Given the description of an element on the screen output the (x, y) to click on. 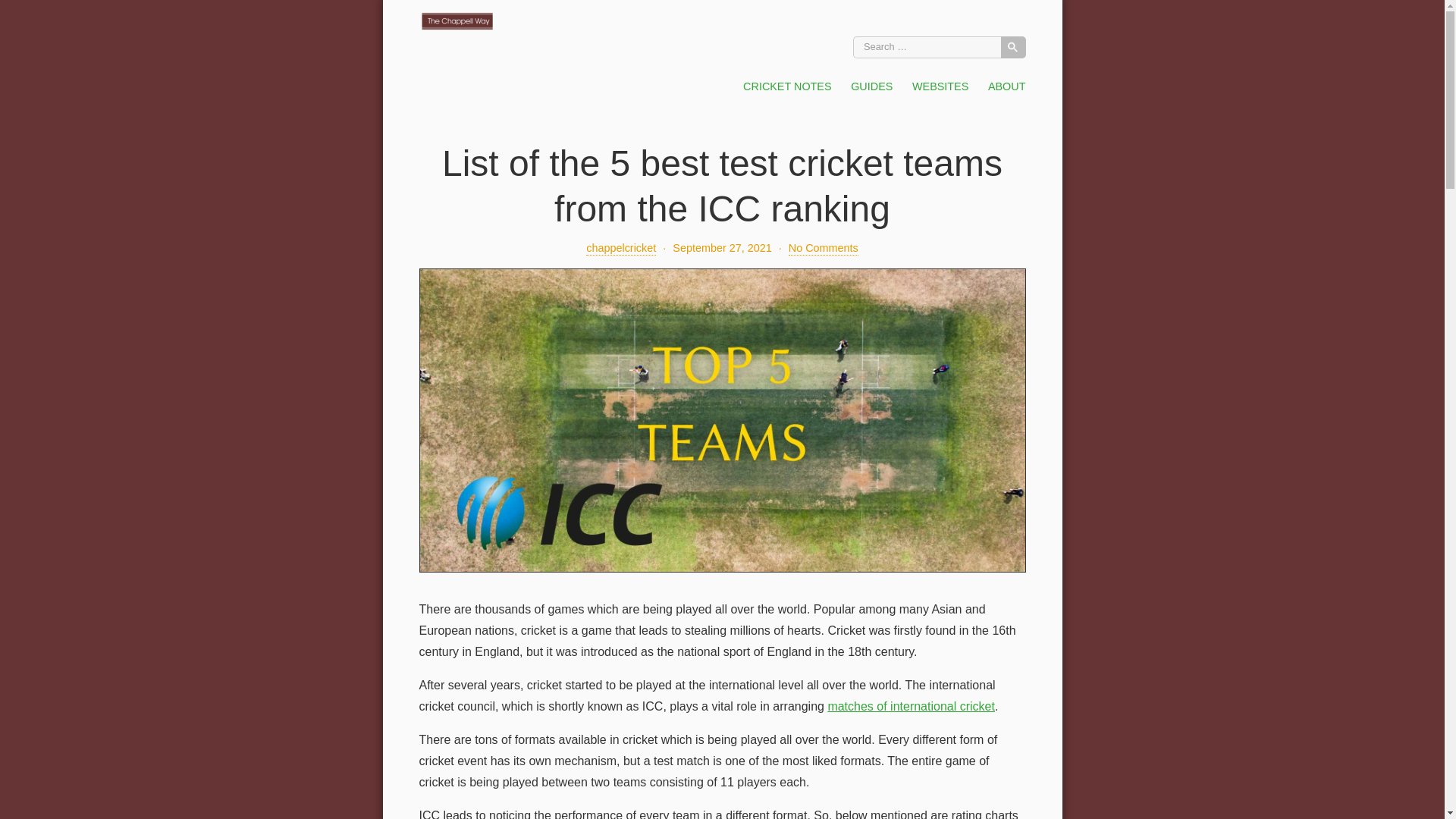
chappelcricket (621, 248)
